Given the description of an element on the screen output the (x, y) to click on. 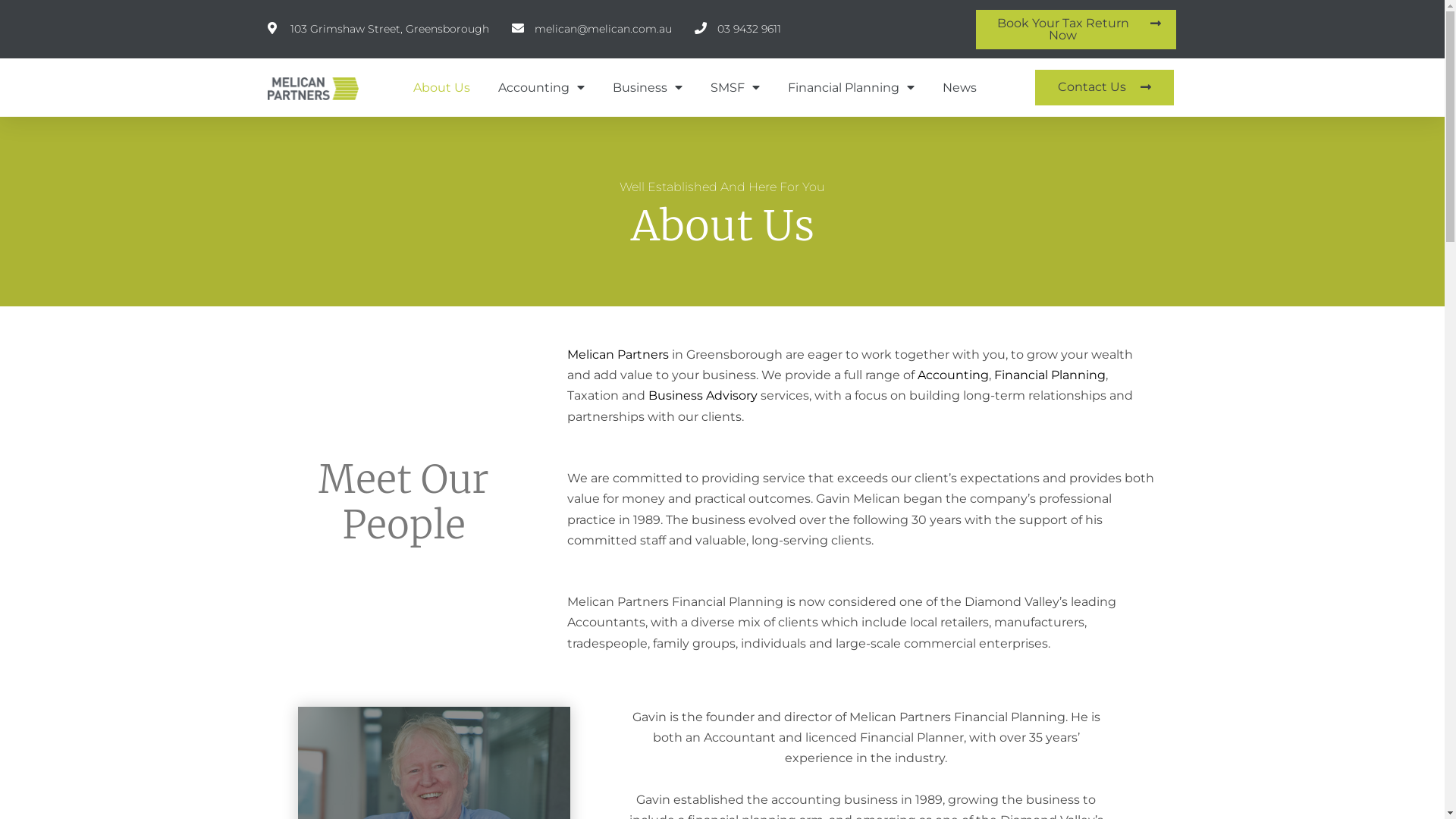
Melican Partners Element type: text (617, 354)
About Us Element type: text (441, 86)
News Element type: text (959, 86)
Accounting Element type: text (541, 86)
SMSF Element type: text (734, 86)
Book Your Tax Return Now Element type: text (1075, 29)
Contact Us Element type: text (1104, 87)
Business Advisory Element type: text (701, 395)
Financial Planning Element type: text (1048, 374)
Business Element type: text (647, 86)
03 9432 9611 Element type: text (737, 29)
Financial Planning Element type: text (850, 86)
melican@melican.com.au Element type: text (591, 29)
Accounting Element type: text (952, 374)
